Given the description of an element on the screen output the (x, y) to click on. 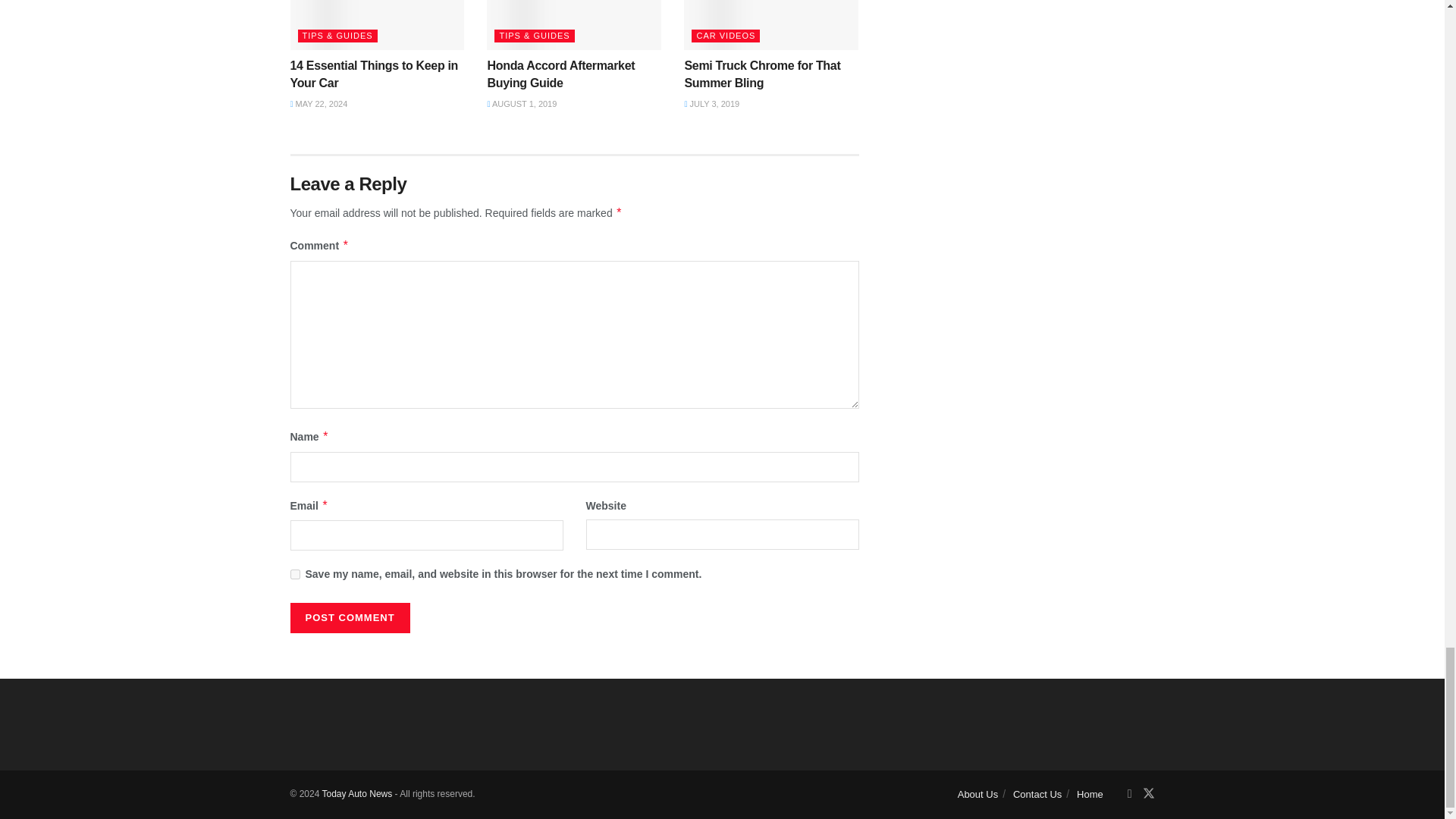
yes (294, 574)
Post Comment (349, 617)
Today Auto News (356, 793)
